Given the description of an element on the screen output the (x, y) to click on. 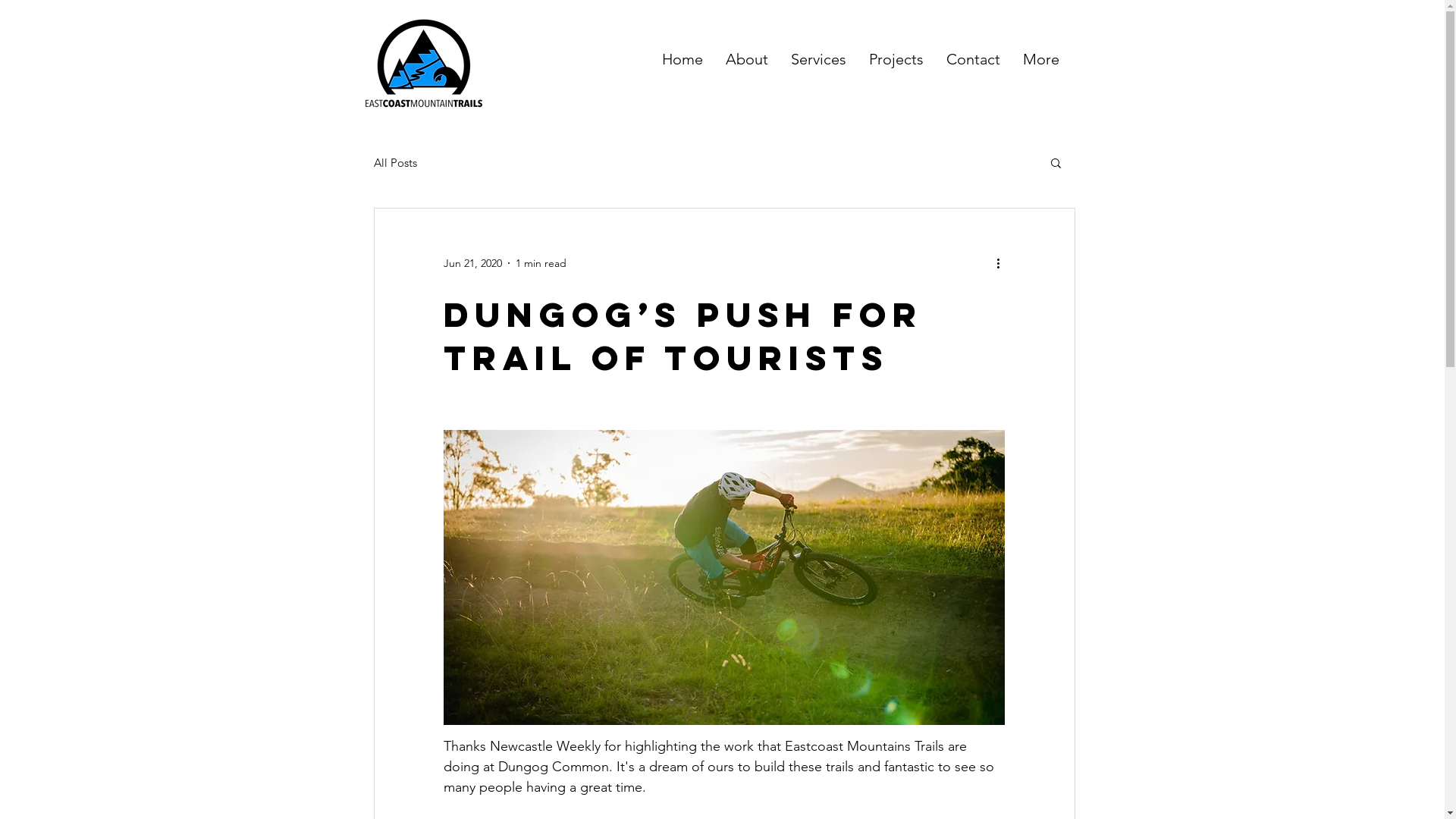
Contact Element type: text (972, 59)
All Posts Element type: text (394, 161)
Projects Element type: text (895, 59)
Home Element type: text (682, 59)
Services Element type: text (818, 59)
About Element type: text (746, 59)
